Given the description of an element on the screen output the (x, y) to click on. 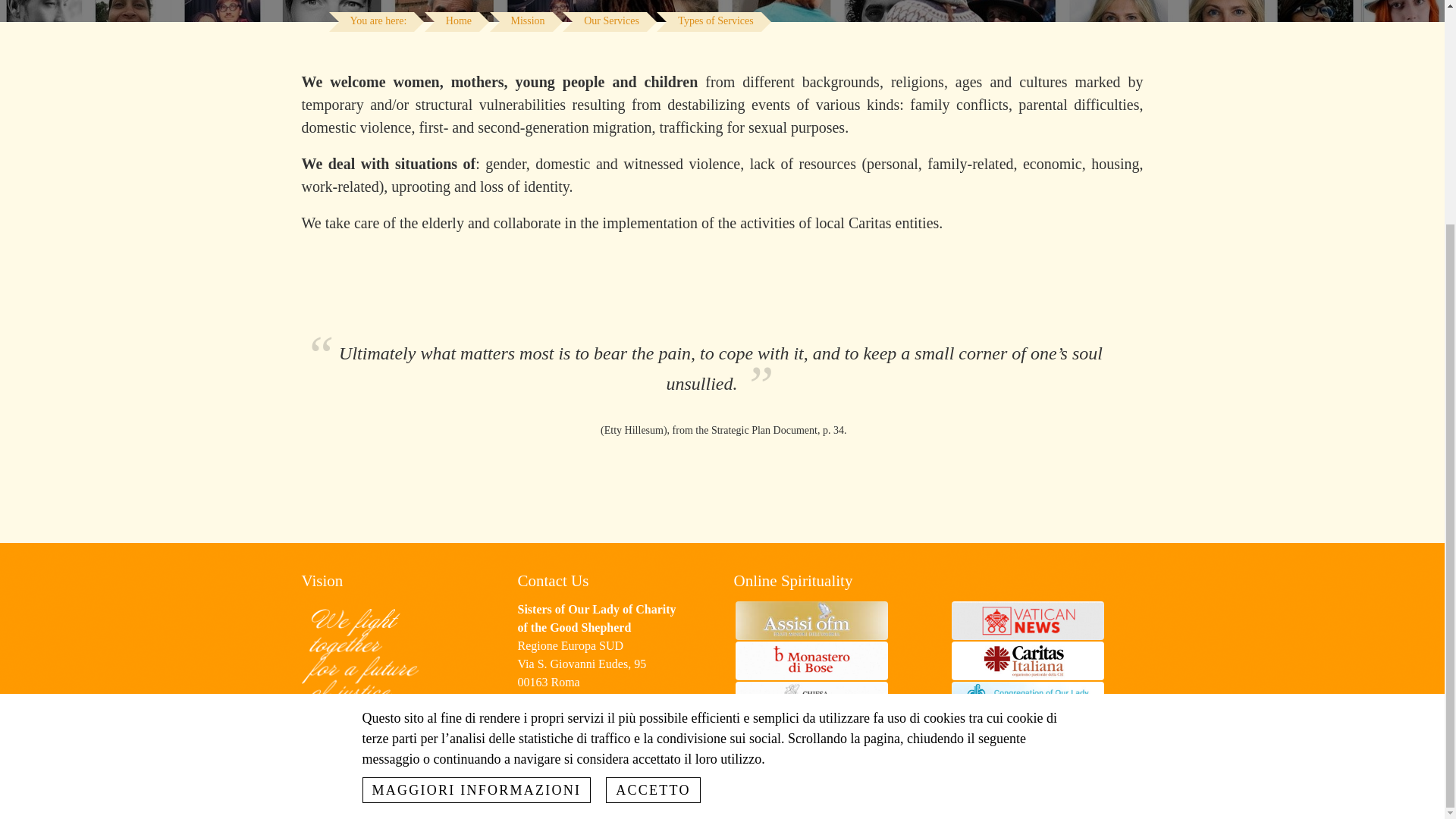
You are here: (378, 21)
Home (458, 21)
Mission (528, 21)
Types of Services (714, 21)
Our Services (611, 21)
